Given the description of an element on the screen output the (x, y) to click on. 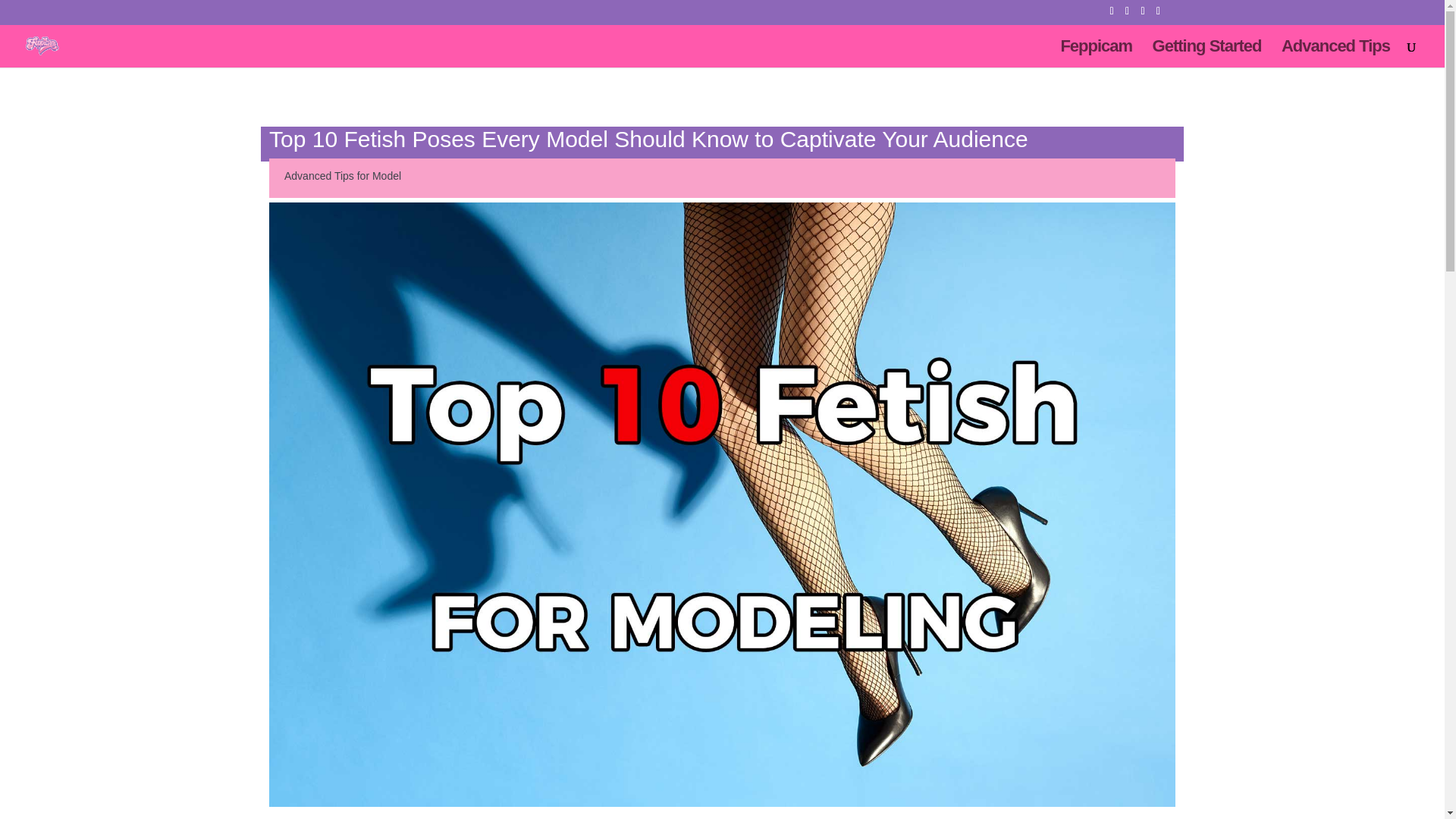
Feppicam (1095, 53)
Advanced Tips (1335, 53)
Getting Started (1207, 53)
how to start a webcam business (1207, 53)
Advanced Tips for Model (342, 175)
how to be a successful cam girl (1335, 53)
Feppicam (1095, 53)
